Given the description of an element on the screen output the (x, y) to click on. 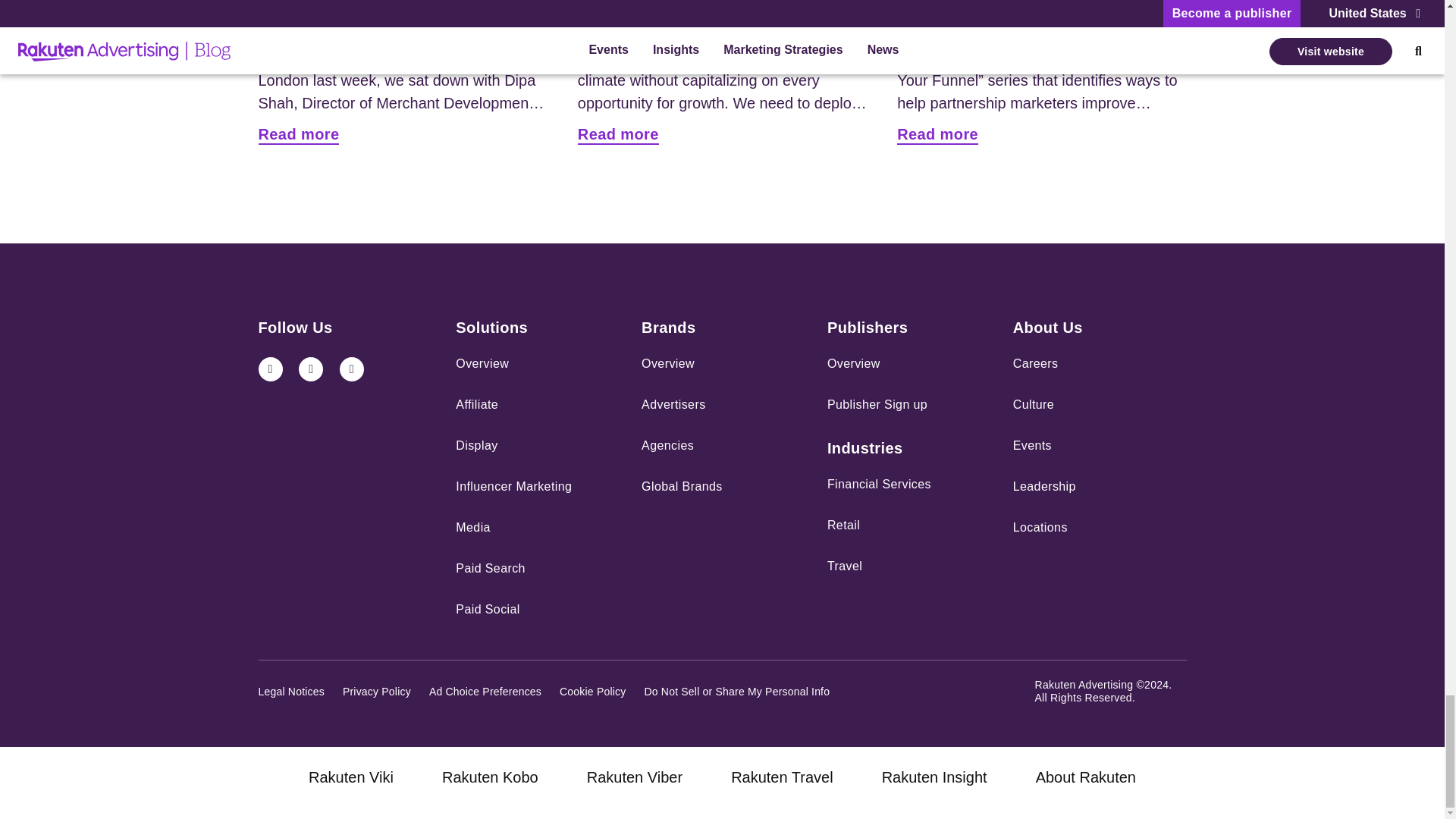
Visit us on Facebook (351, 369)
Visit us on Twitter (310, 369)
Solutions (491, 328)
Visit us on LinkedIn (269, 369)
